Given the description of an element on the screen output the (x, y) to click on. 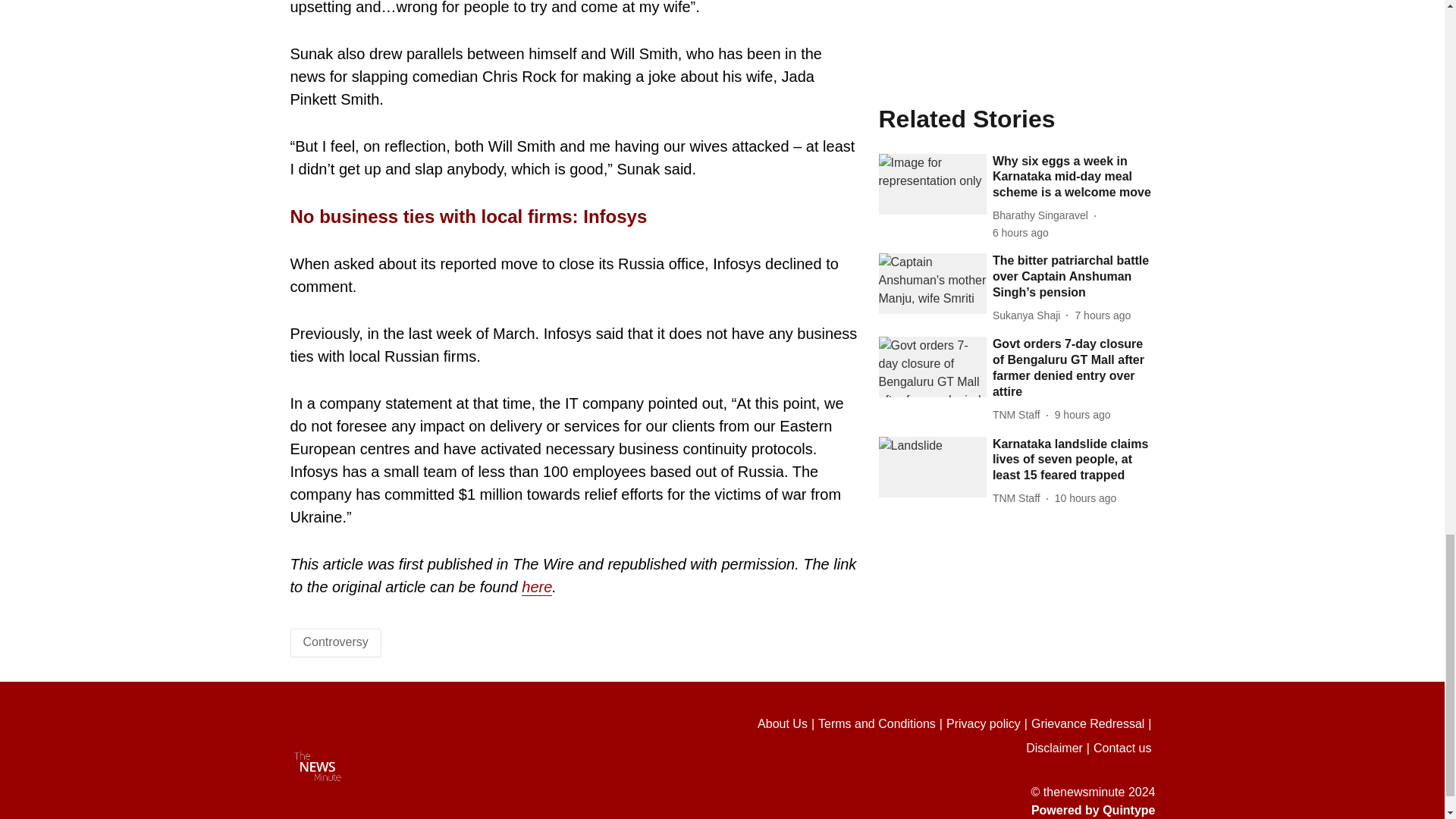
here (536, 587)
Controversy (335, 641)
